Given the description of an element on the screen output the (x, y) to click on. 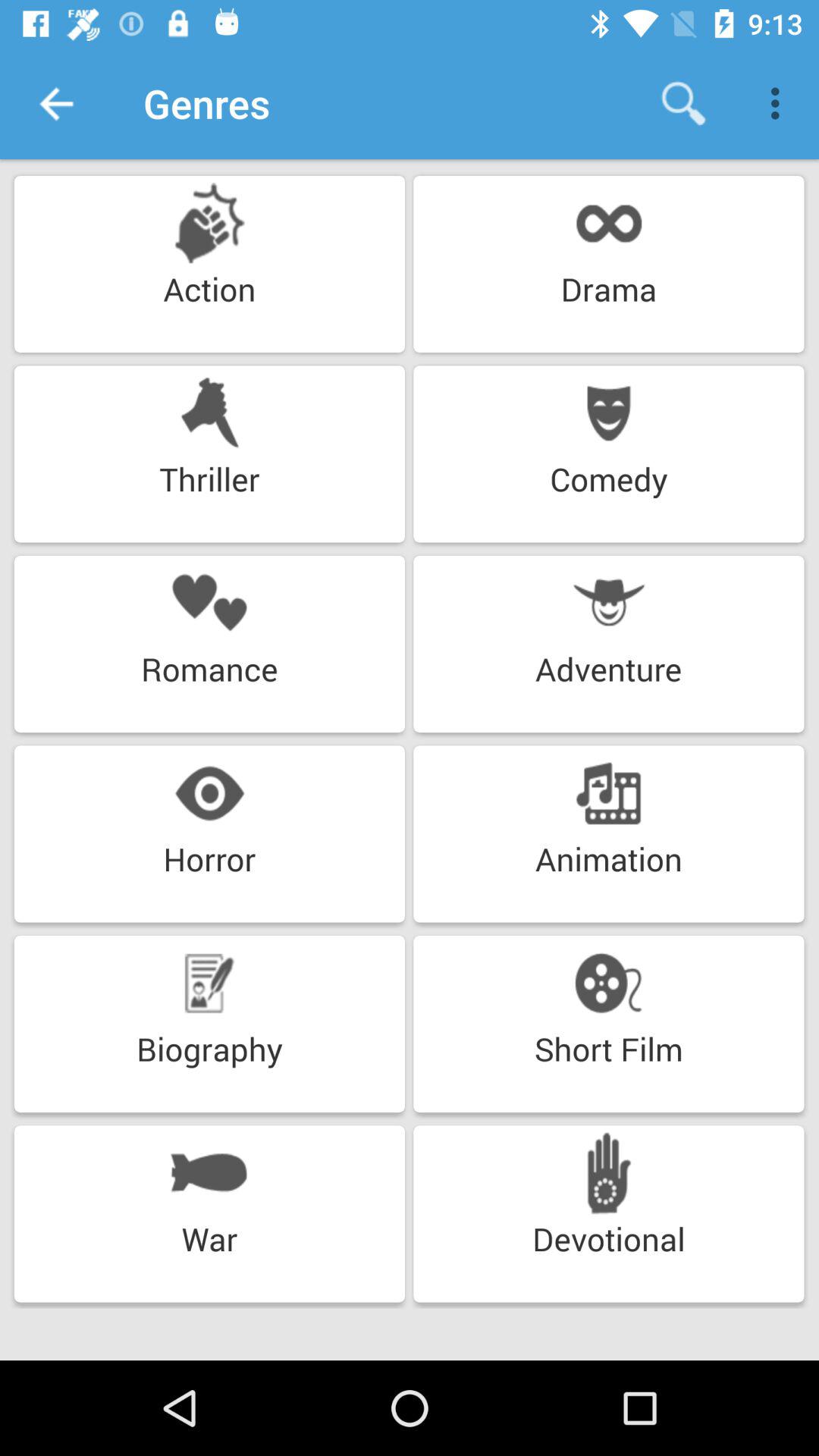
click the icon to the left of the genres (55, 103)
